Given the description of an element on the screen output the (x, y) to click on. 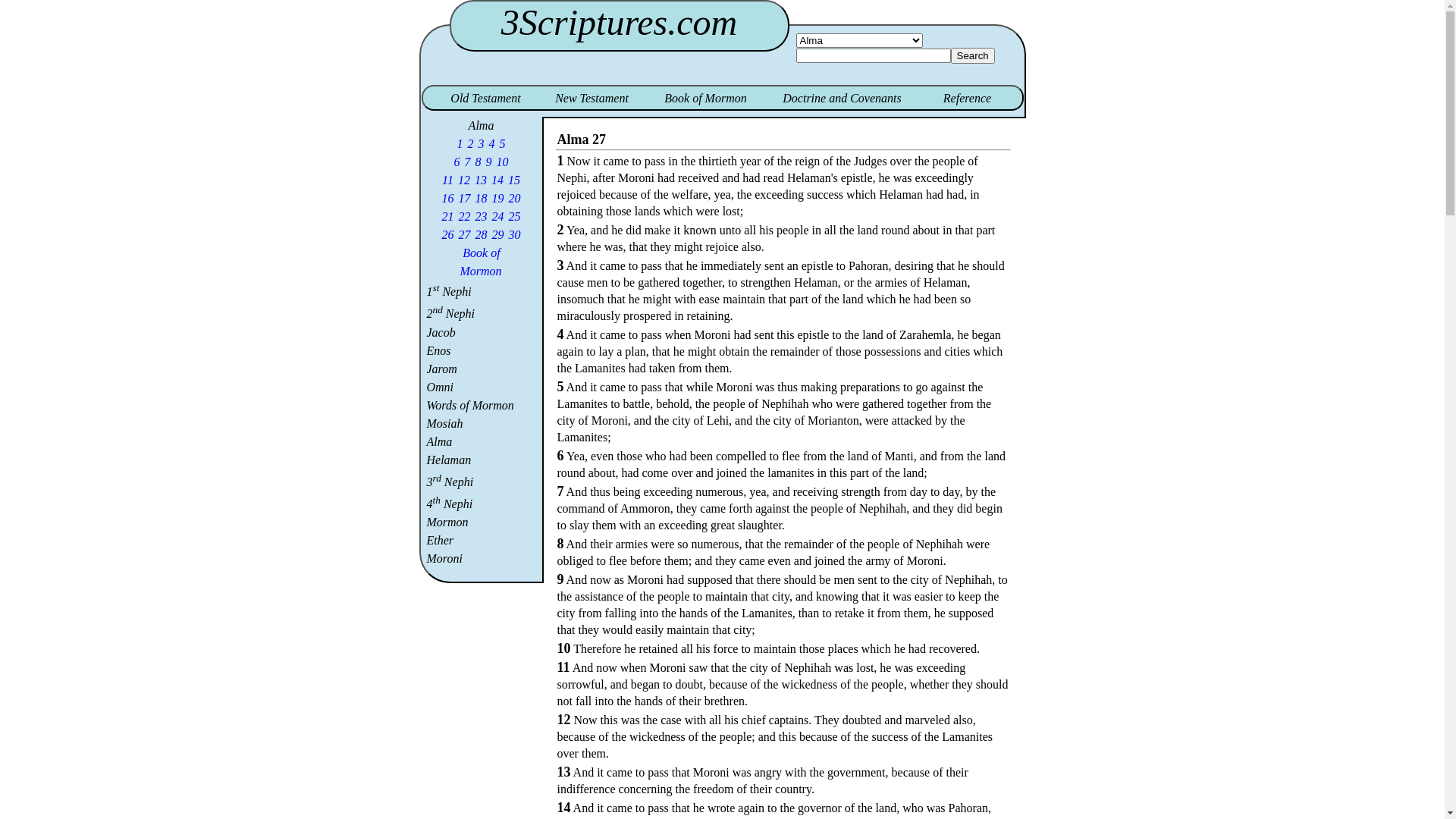
15 Element type: text (513, 179)
21 Element type: text (448, 216)
17 Element type: text (464, 197)
16 Element type: text (448, 197)
20 Element type: text (514, 197)
29 Element type: text (498, 234)
6 Element type: text (457, 161)
14 Element type: text (497, 179)
30 Element type: text (514, 234)
19 Element type: text (498, 197)
22 Element type: text (464, 216)
8 Element type: text (478, 161)
26 Element type: text (448, 234)
Book of
Mormon Element type: text (480, 261)
4 Element type: text (491, 143)
11 Element type: text (447, 179)
9 Element type: text (488, 161)
23 Element type: text (481, 216)
24 Element type: text (498, 216)
28 Element type: text (481, 234)
18 Element type: text (481, 197)
2 Element type: text (470, 143)
7 Element type: text (467, 161)
Search Element type: text (972, 55)
12 Element type: text (463, 179)
3 Element type: text (481, 143)
1 Element type: text (460, 143)
3Scriptures.com Element type: text (619, 22)
5 Element type: text (502, 143)
10 Element type: text (502, 161)
27 Element type: text (464, 234)
13 Element type: text (480, 179)
25 Element type: text (514, 216)
